Given the description of an element on the screen output the (x, y) to click on. 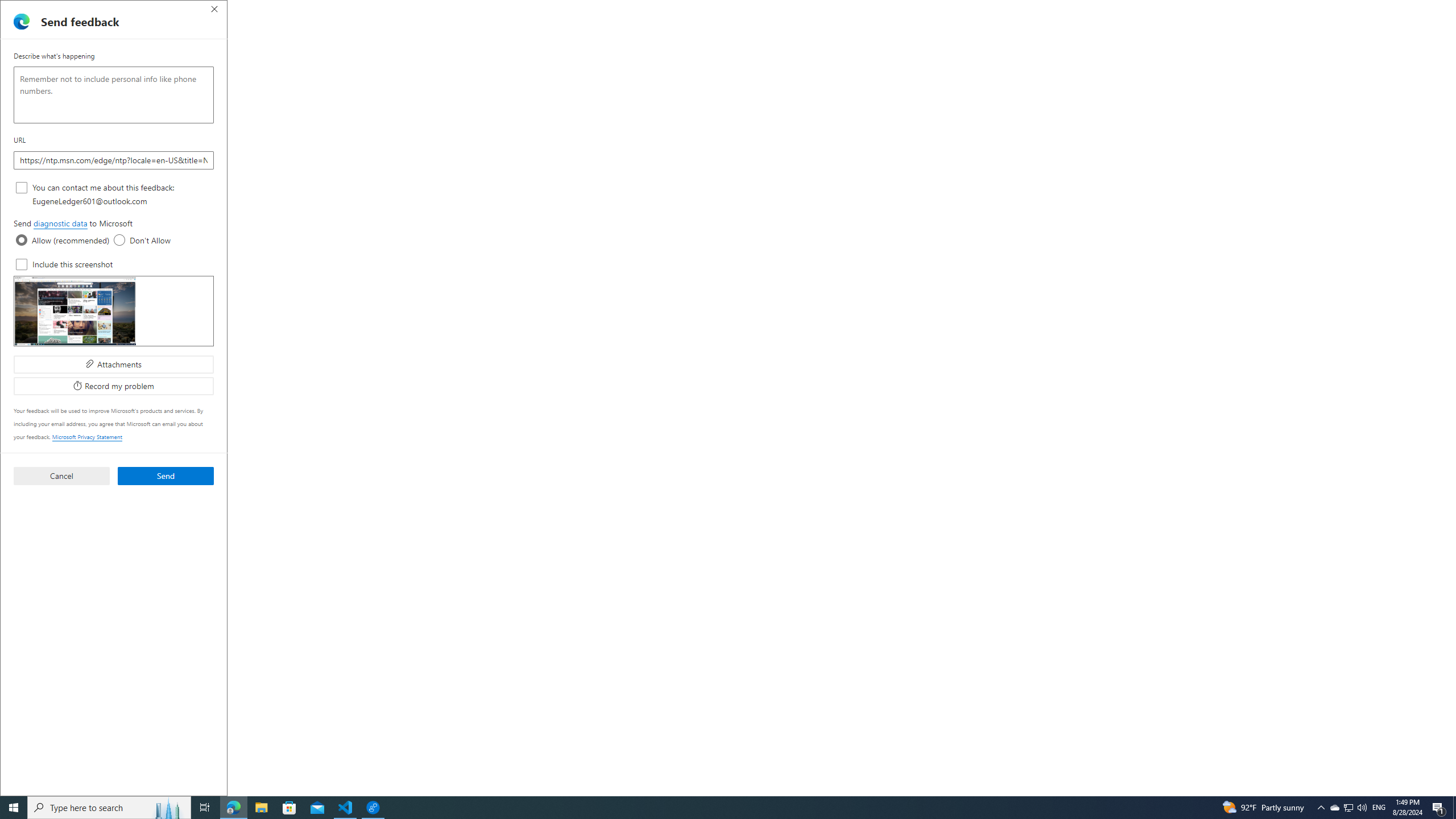
Products provided by your organization (732, 537)
